Given the description of an element on the screen output the (x, y) to click on. 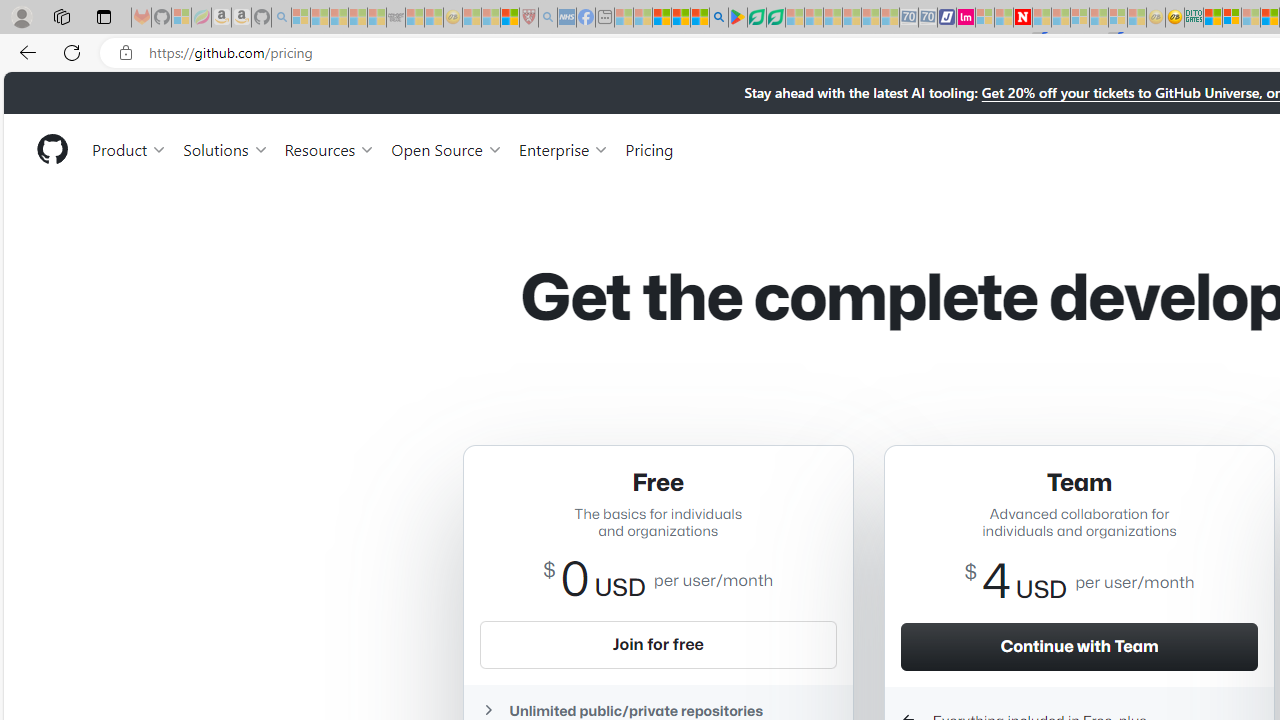
Resources (330, 148)
Resources (330, 148)
Latest Politics News & Archive | Newsweek.com (1022, 17)
Pricing (649, 148)
